Given the description of an element on the screen output the (x, y) to click on. 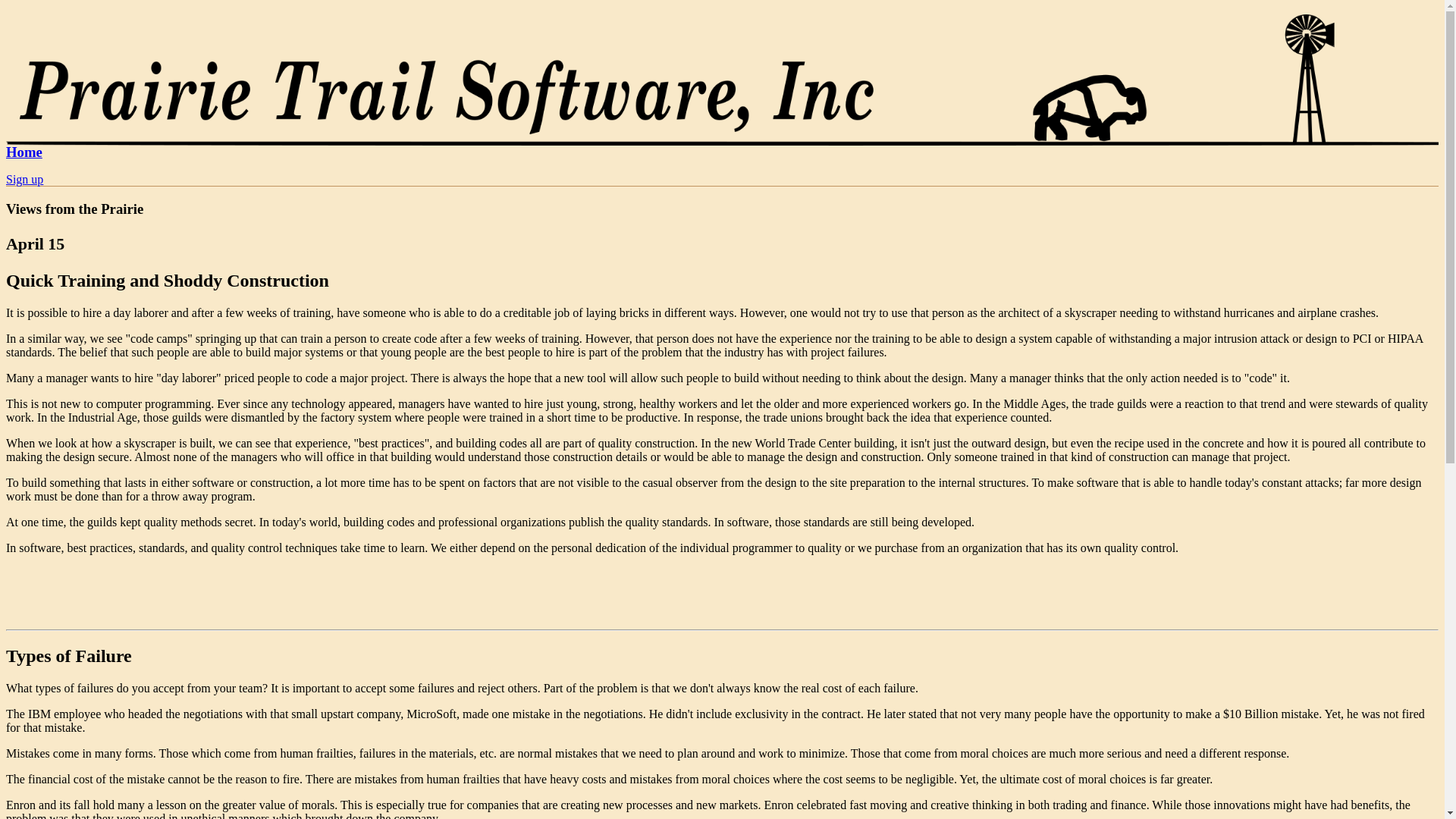
Sign up (24, 178)
